Given the description of an element on the screen output the (x, y) to click on. 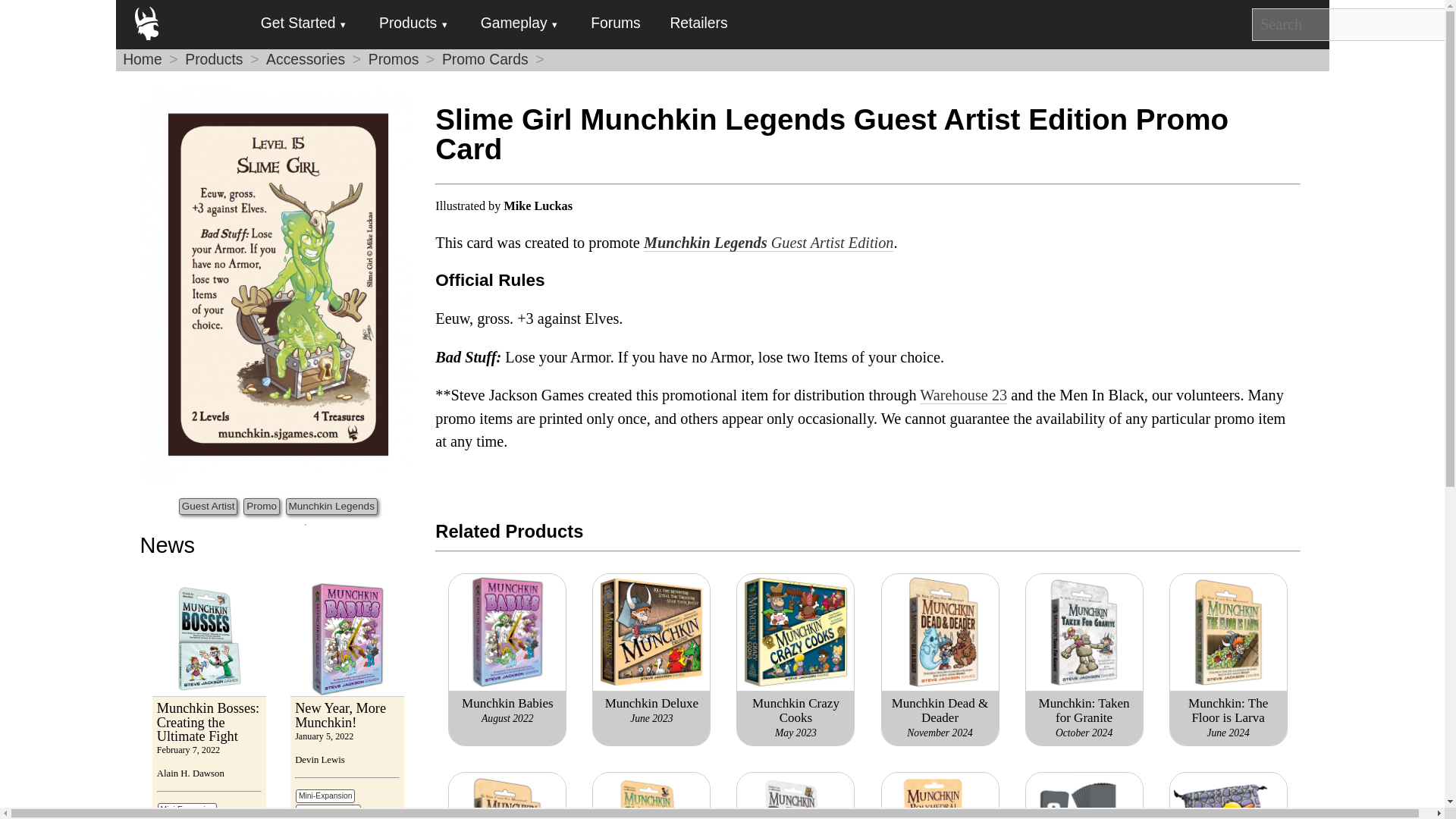
Retailers (698, 22)
Products (413, 23)
Guest Artist (208, 506)
Products (213, 59)
Accessories (305, 59)
Promos (393, 59)
Home (141, 59)
Get Started (302, 23)
Gameplay (518, 23)
Promo Cards (485, 59)
